Given the description of an element on the screen output the (x, y) to click on. 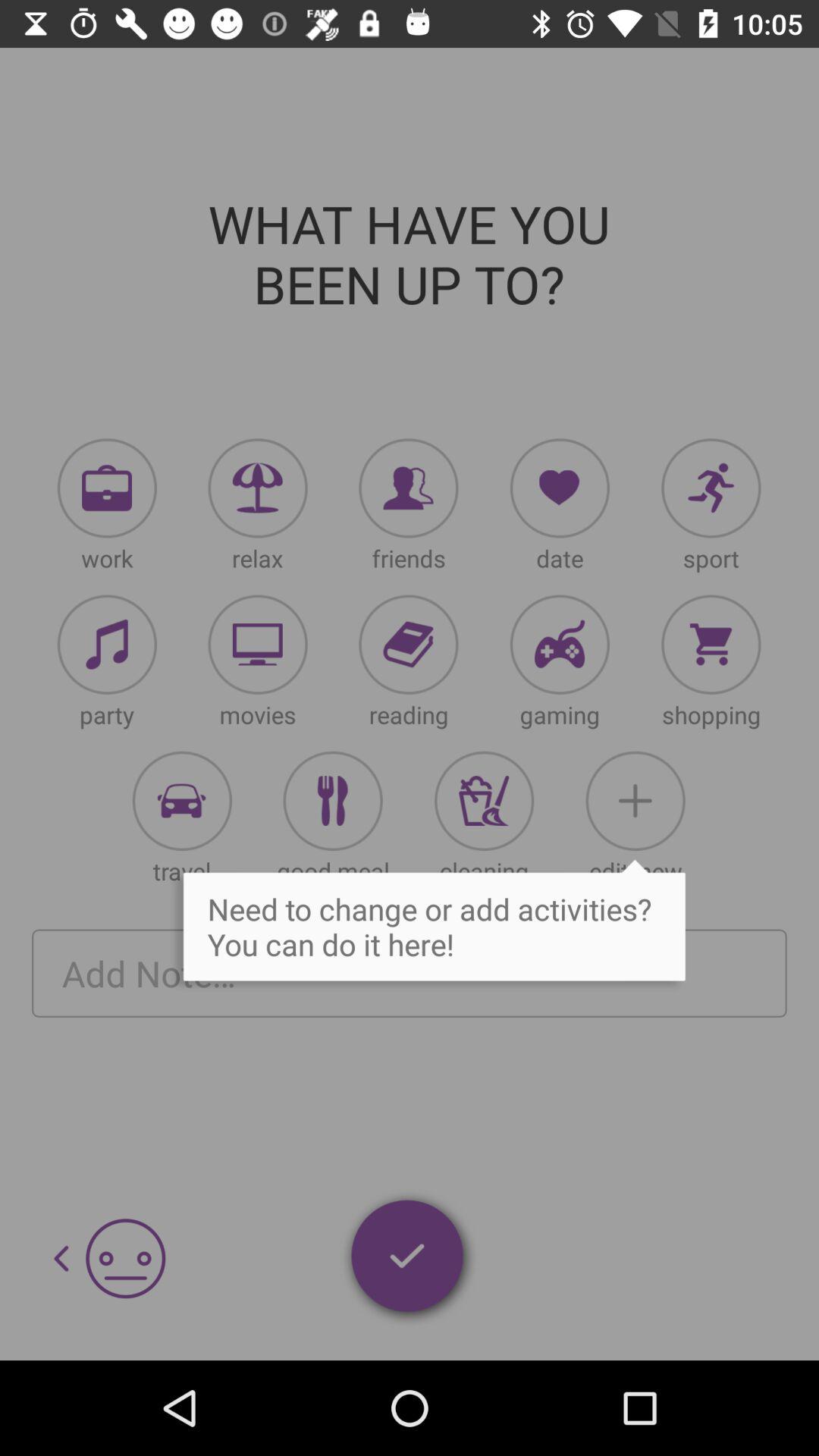
shopping (710, 644)
